Given the description of an element on the screen output the (x, y) to click on. 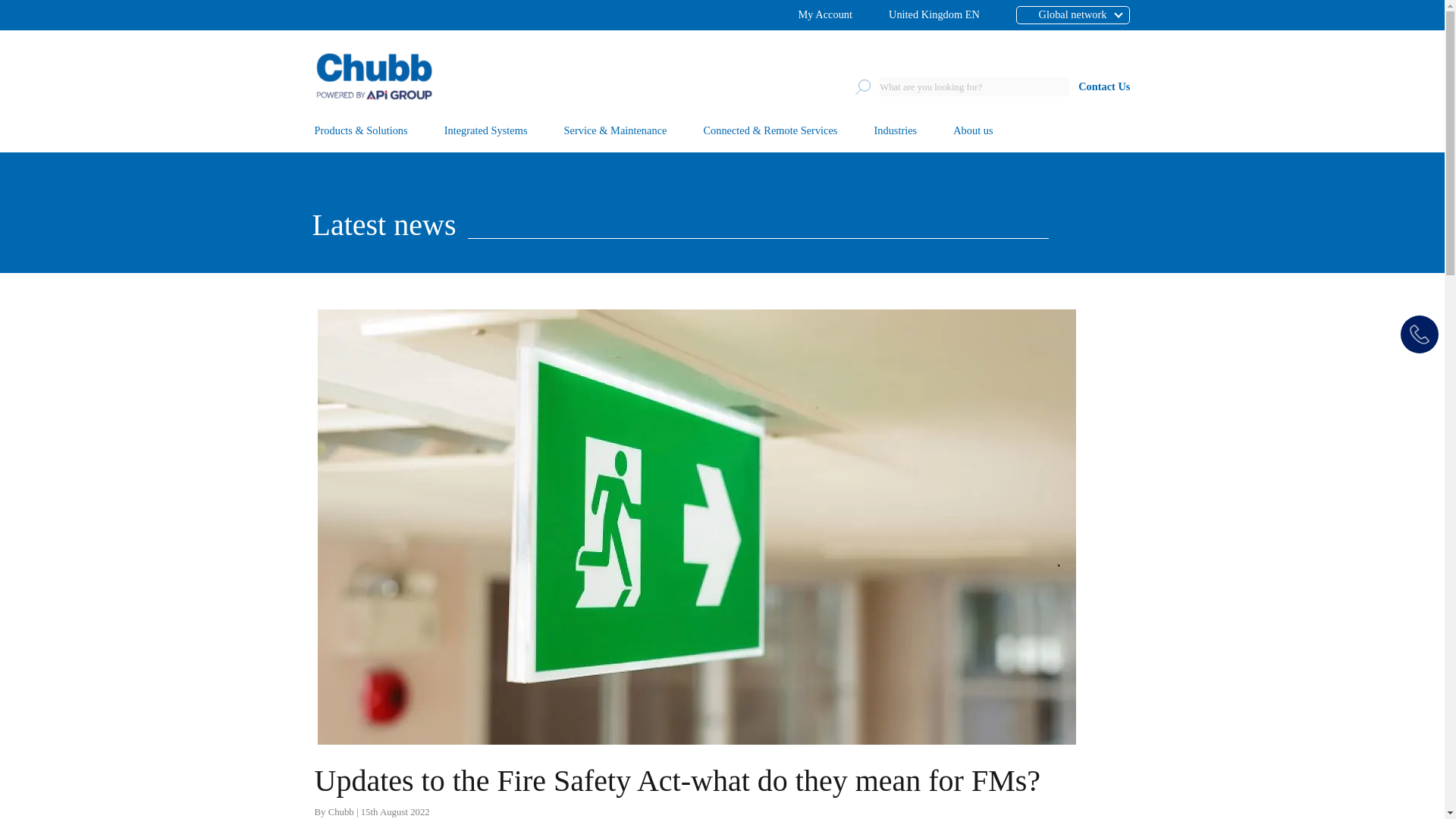
Contact Phone (1419, 333)
United Kingdom EN (933, 14)
Global network (1055, 14)
Search for: (973, 86)
My Account (824, 14)
